Given the description of an element on the screen output the (x, y) to click on. 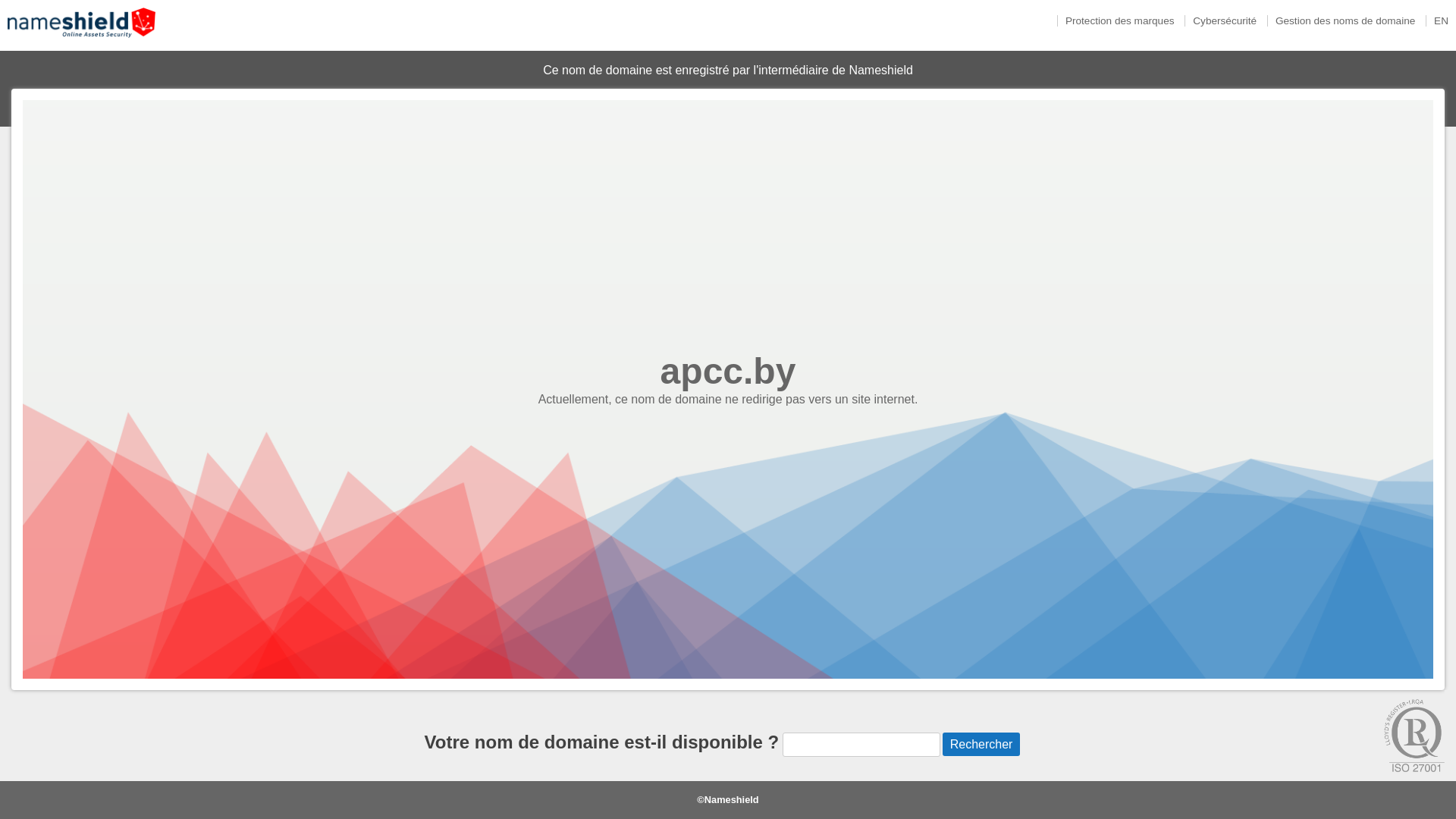
Protection des marques Element type: text (1119, 20)
Nameshield Element type: hover (81, 40)
Rechercher Element type: text (981, 744)
Gestion des noms de domaine Element type: text (1344, 20)
